Given the description of an element on the screen output the (x, y) to click on. 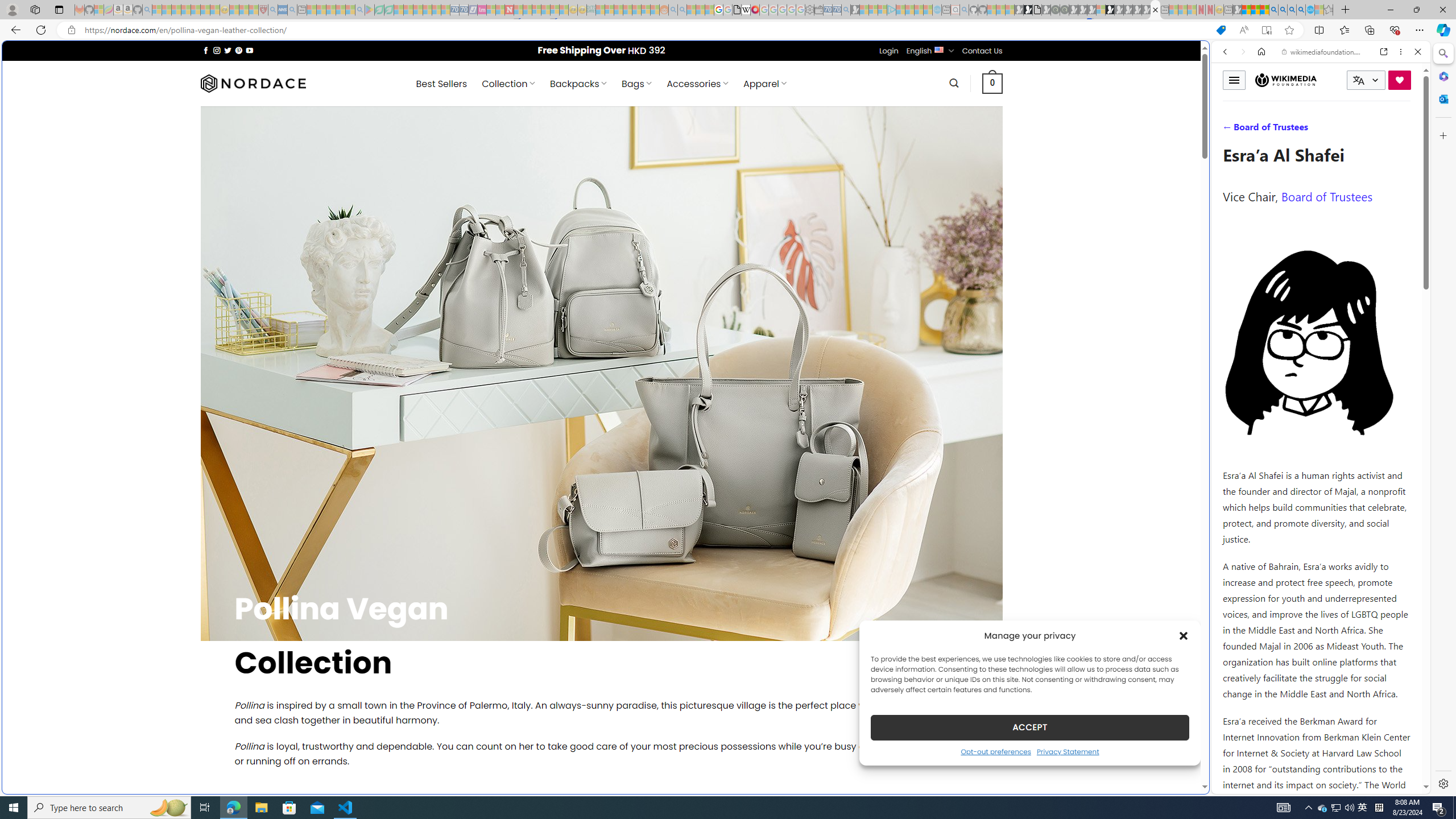
CURRENT LANGUAGE: (1366, 80)
ACCEPT (1029, 727)
  Best Sellers (441, 83)
github - Search - Sleeping (964, 9)
Contact Us (982, 50)
wikimediafoundation.org (1323, 51)
Favorites - Sleeping (1328, 9)
